Given the description of an element on the screen output the (x, y) to click on. 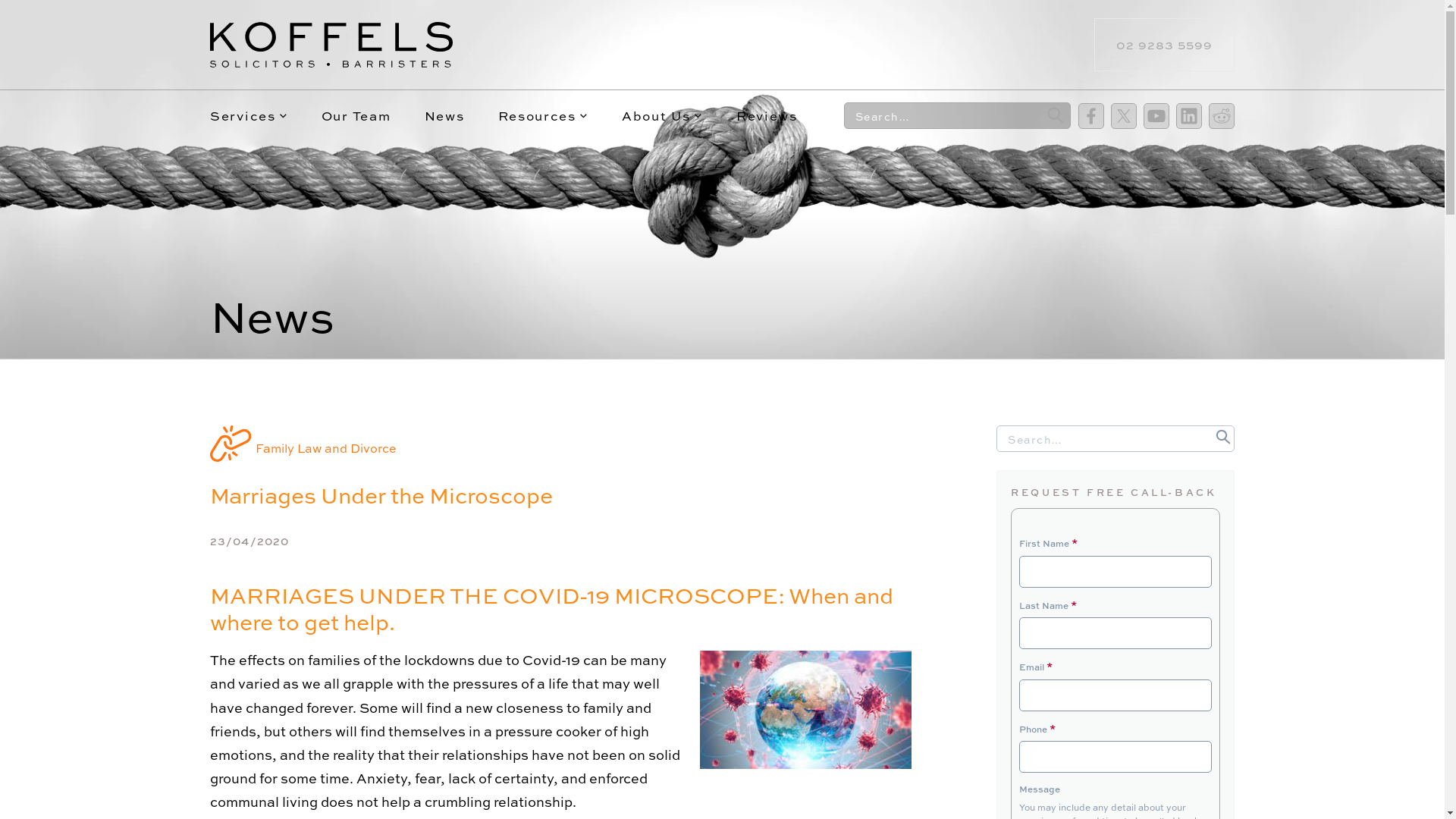
Resources Element type: text (543, 115)
Search Element type: hover (1055, 115)
Covid Divorce Element type: hover (805, 709)
Search Element type: hover (1222, 436)
23/04/2020 Element type: text (249, 540)
About Us Element type: text (661, 115)
Services Element type: text (249, 115)
News Element type: text (444, 115)
02 9283 5599 Element type: text (1164, 44)
Family Law and Divorce Element type: text (325, 448)
Reviews Element type: text (766, 115)
Our Team Element type: text (356, 115)
